Given the description of an element on the screen output the (x, y) to click on. 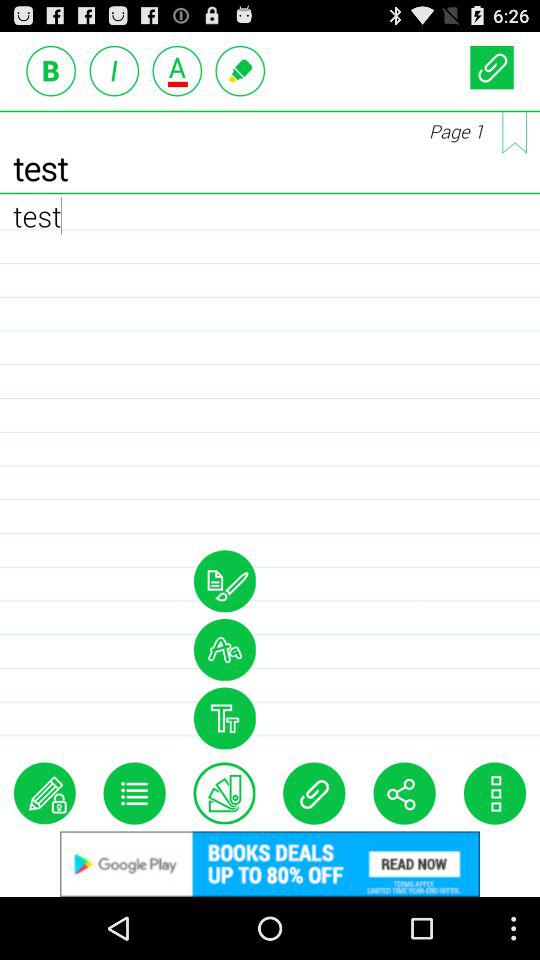
save button (491, 66)
